Given the description of an element on the screen output the (x, y) to click on. 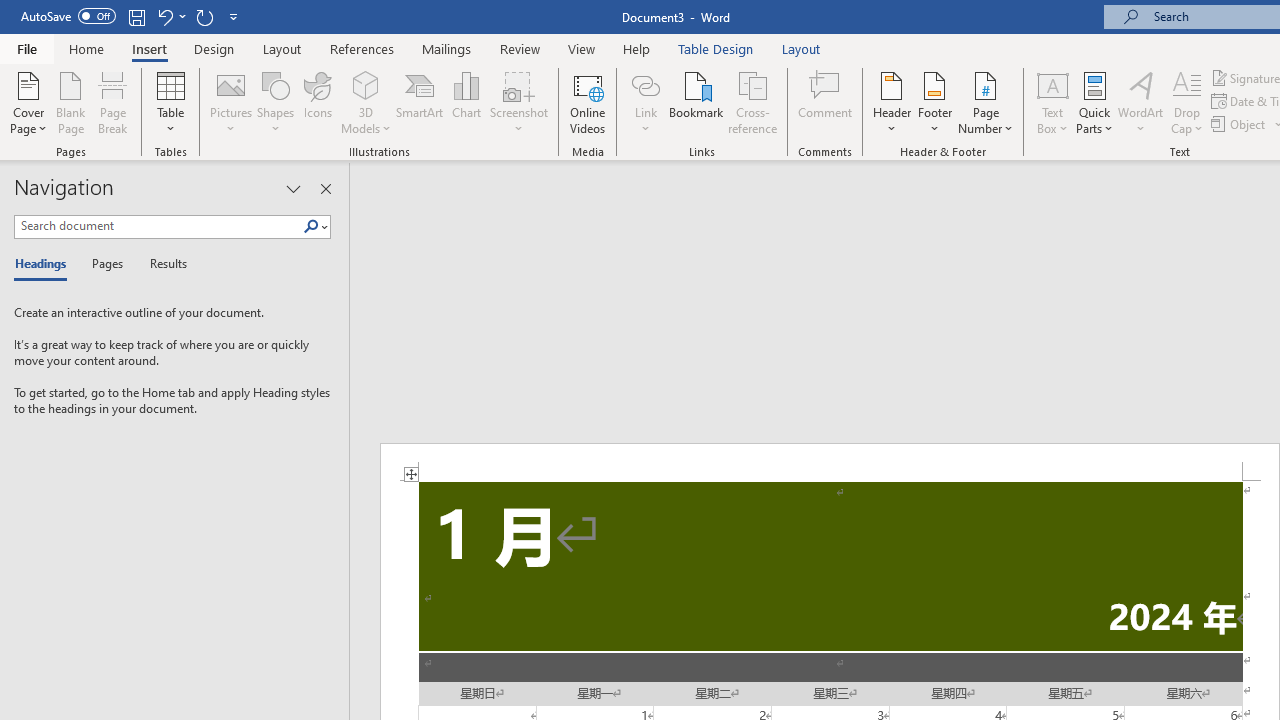
3D Models (366, 102)
Mailings (447, 48)
Screenshot (518, 102)
Insert (149, 48)
Table Design (715, 48)
Shapes (275, 102)
Table (170, 102)
Home (86, 48)
Search document (157, 226)
Cover Page (28, 102)
Link (645, 84)
File Tab (26, 48)
SmartArt... (419, 102)
